Given the description of an element on the screen output the (x, y) to click on. 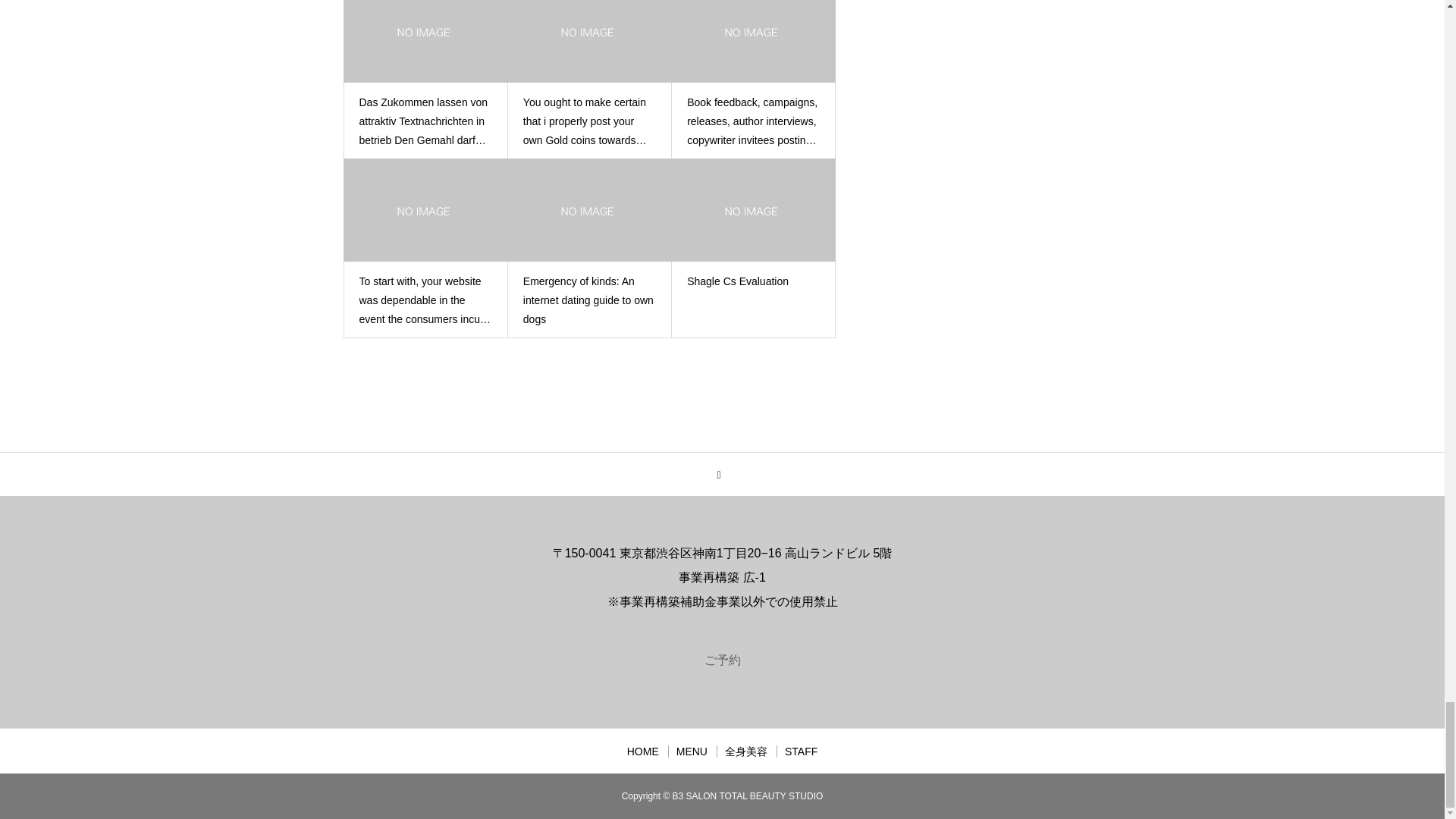
Emergency of kinds: An internet dating guide to own dogs (589, 300)
Shagle Cs Evaluation (753, 281)
MENU (692, 751)
HOME (643, 751)
